Given the description of an element on the screen output the (x, y) to click on. 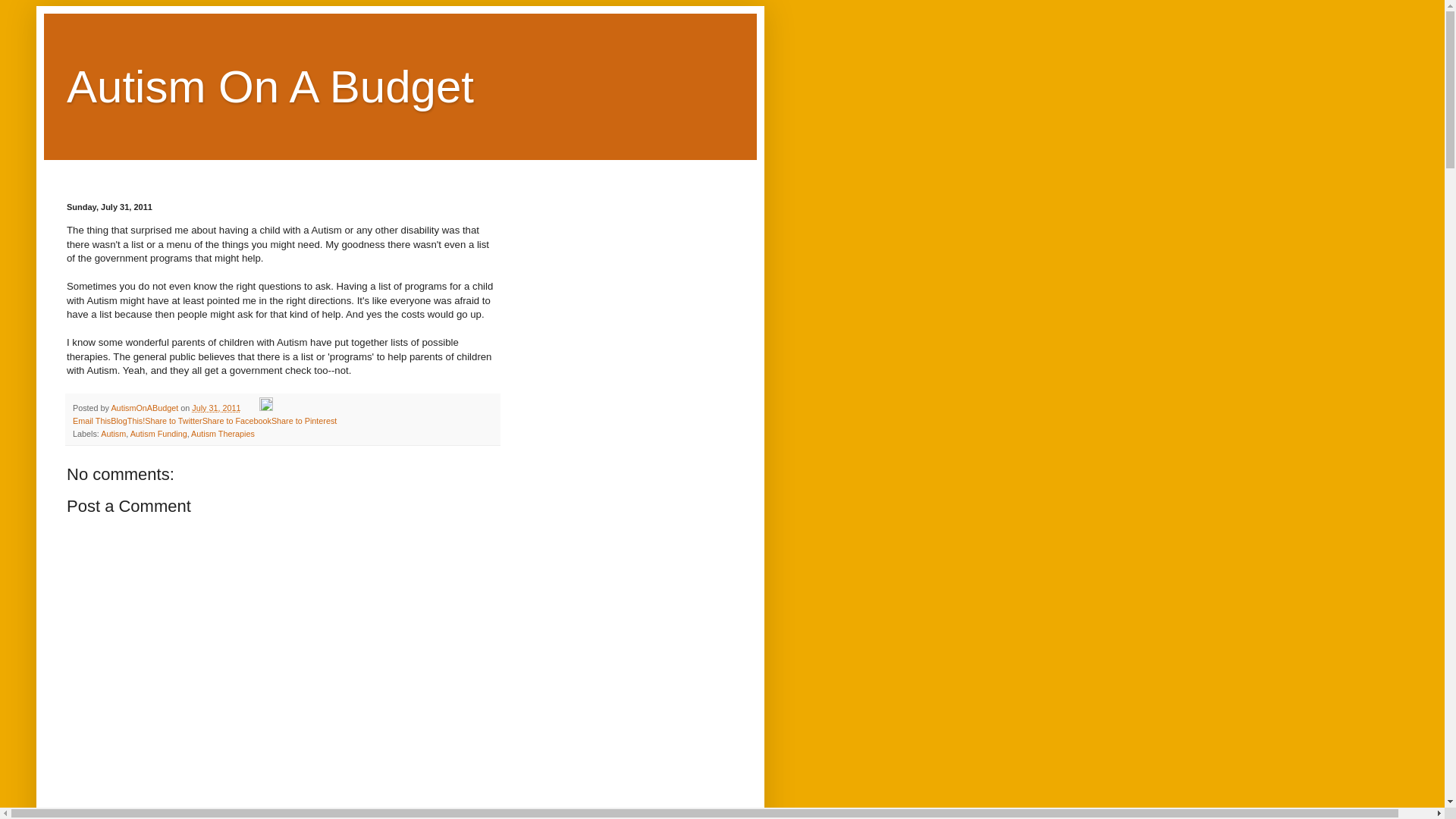
permanent link (216, 407)
July 31, 2011 (216, 407)
Share to Twitter (173, 420)
Email Post (251, 407)
Autism (112, 433)
Share to Facebook (236, 420)
Share to Twitter (173, 420)
Autism Therapies (222, 433)
Edit Post (266, 407)
BlogThis! (127, 420)
Share to Facebook (236, 420)
author profile (145, 407)
Autism On A Budget (270, 86)
Share to Pinterest (303, 420)
Email This (91, 420)
